Given the description of an element on the screen output the (x, y) to click on. 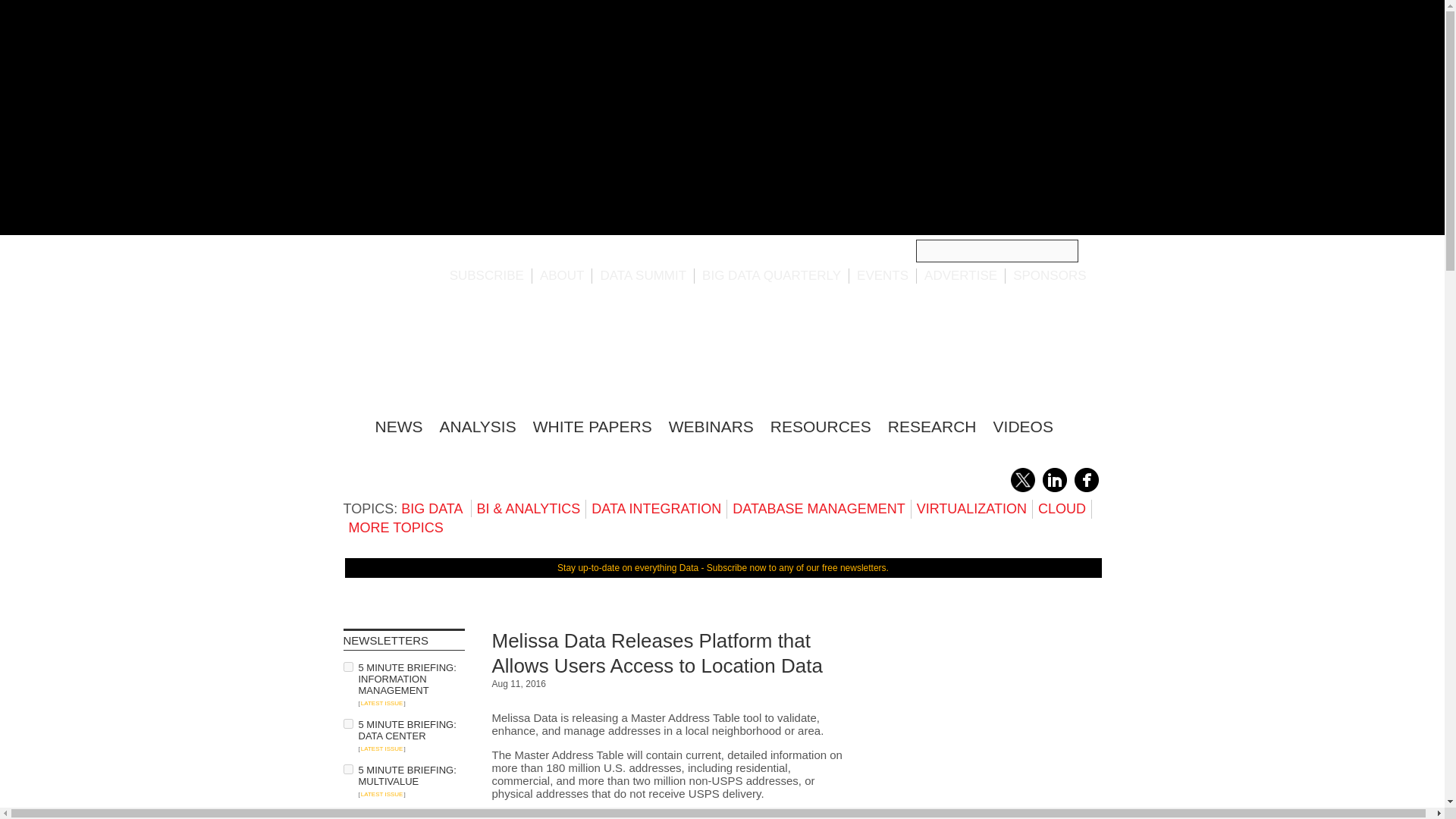
RESOURCES (820, 425)
WEBINARS (711, 425)
VIDEOS (1022, 425)
HOME (350, 424)
on (347, 666)
DBTA on Facebook (1085, 489)
ADVERTISE (960, 275)
DBTA (434, 352)
on (347, 723)
DATA SUMMIT (642, 275)
